Given the description of an element on the screen output the (x, y) to click on. 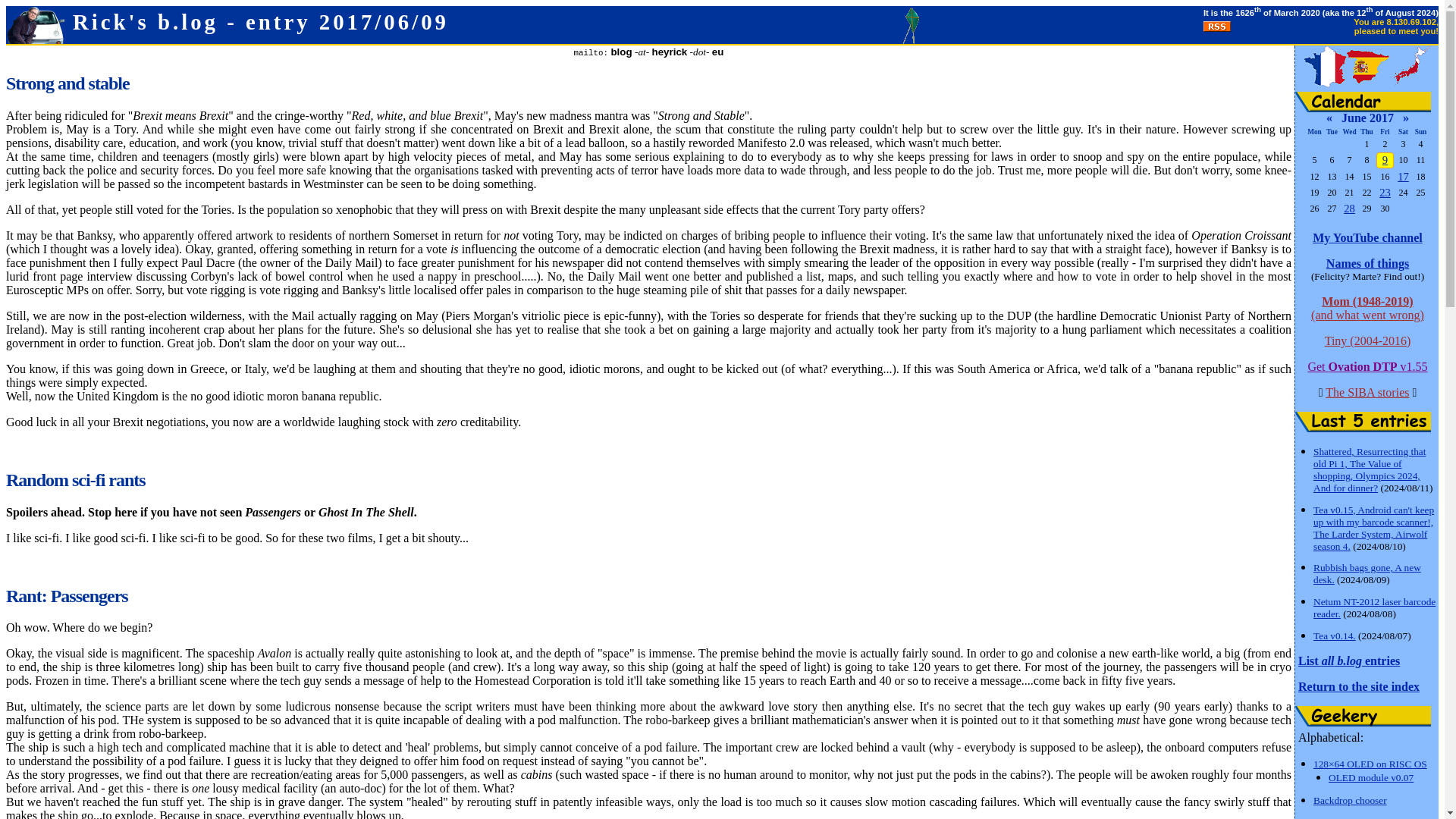
Return to the site index (1358, 686)
OLED module v0.07 (1370, 776)
23 (1384, 192)
17 (1403, 176)
Names of things (1367, 263)
Geekery (1363, 715)
28 (1349, 208)
Basic ray casting (1347, 817)
I broke my IPCAM but I don't care (1403, 176)
Tea v0.14. (1334, 635)
